Given the description of an element on the screen output the (x, y) to click on. 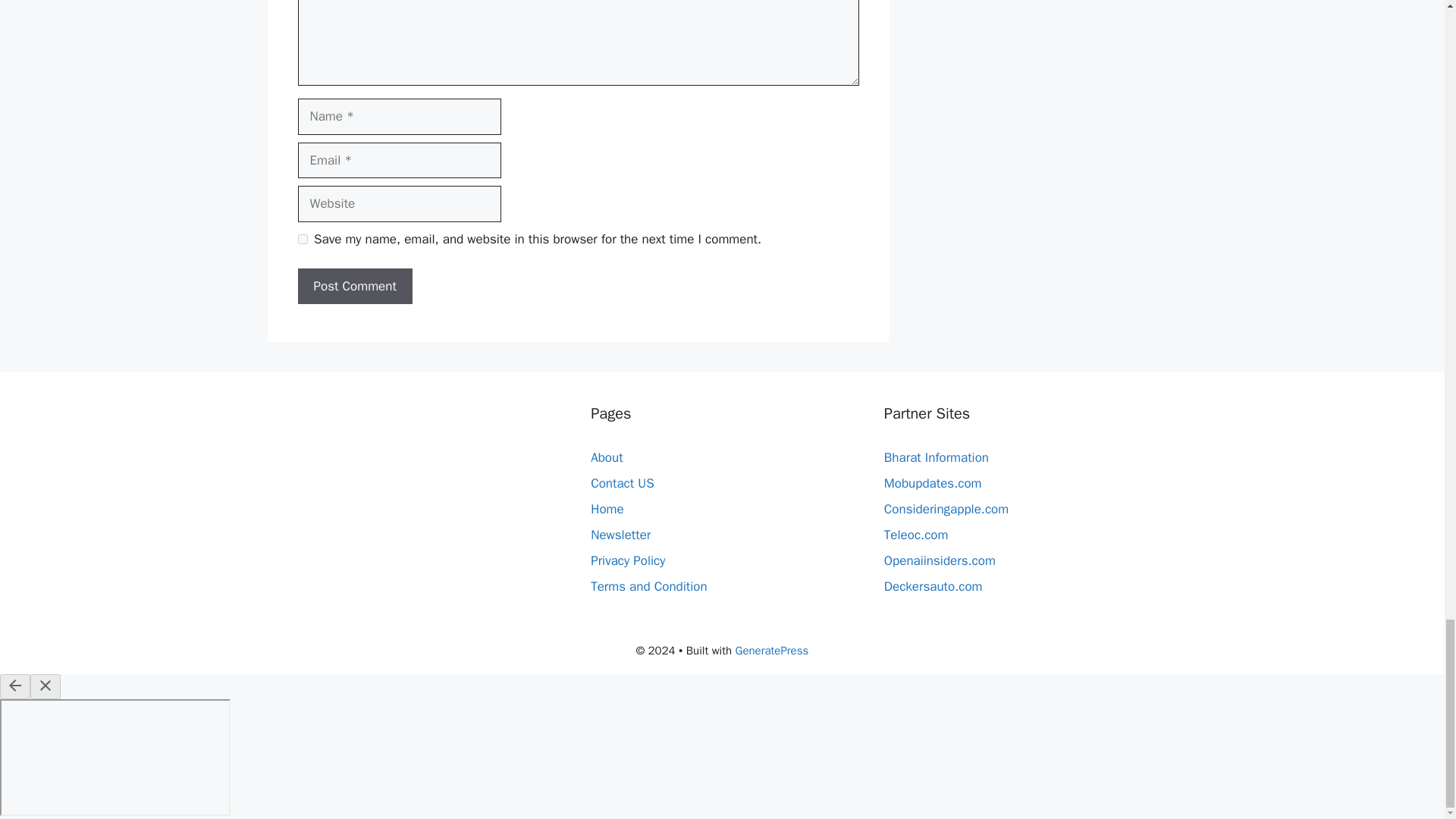
yes (302, 239)
Terms and Condition (648, 586)
Newsletter (620, 534)
Bharat Information (935, 457)
About (607, 457)
Post Comment (354, 286)
Consideringapple.com (946, 508)
Post Comment (354, 286)
Home (607, 508)
Openaiinsiders.com (939, 560)
Teleoc.com (916, 534)
Privacy Policy (628, 560)
Contact US (622, 483)
Mobupdates.com (932, 483)
